Given the description of an element on the screen output the (x, y) to click on. 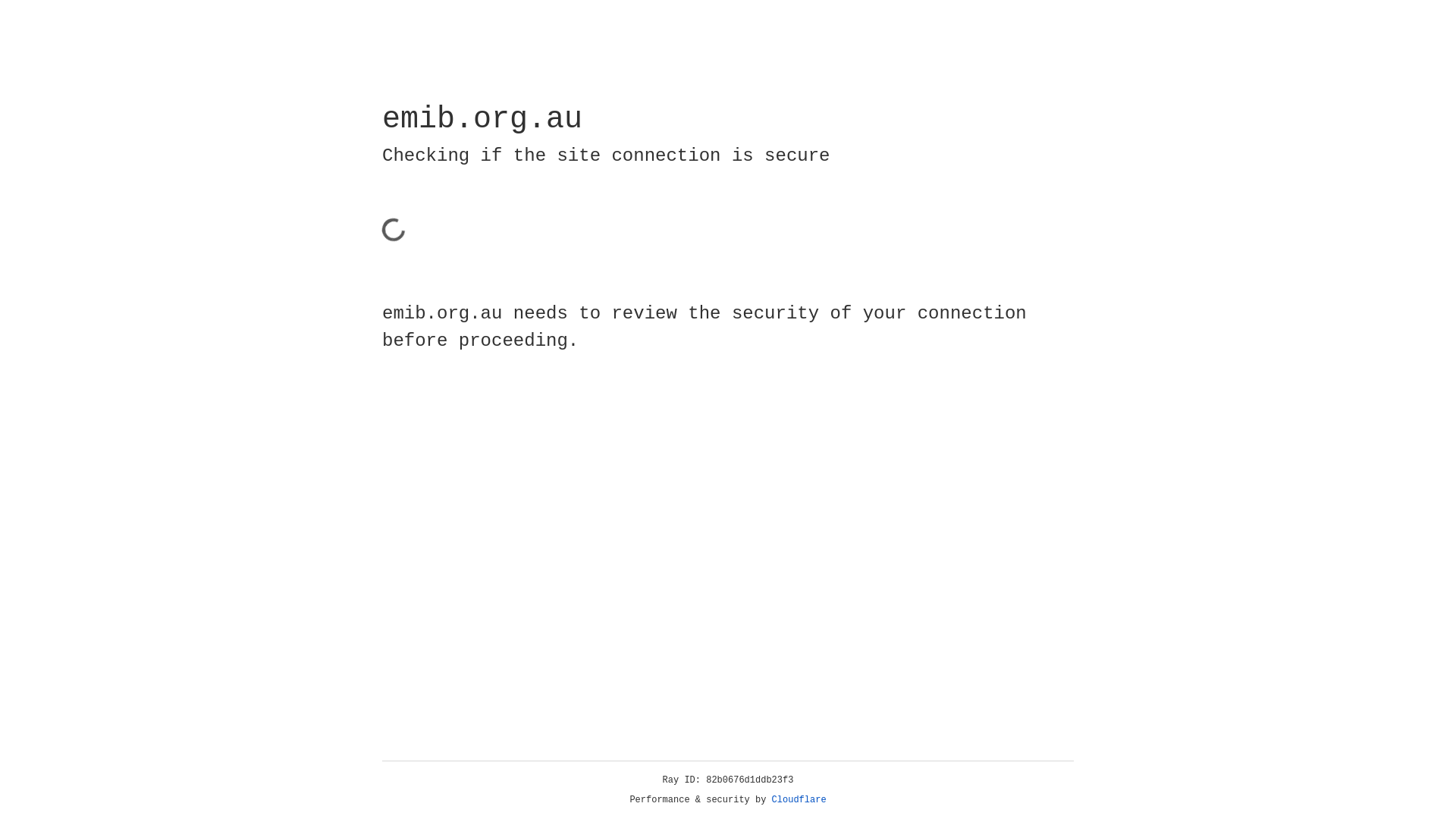
Cloudflare Element type: text (798, 799)
